Given the description of an element on the screen output the (x, y) to click on. 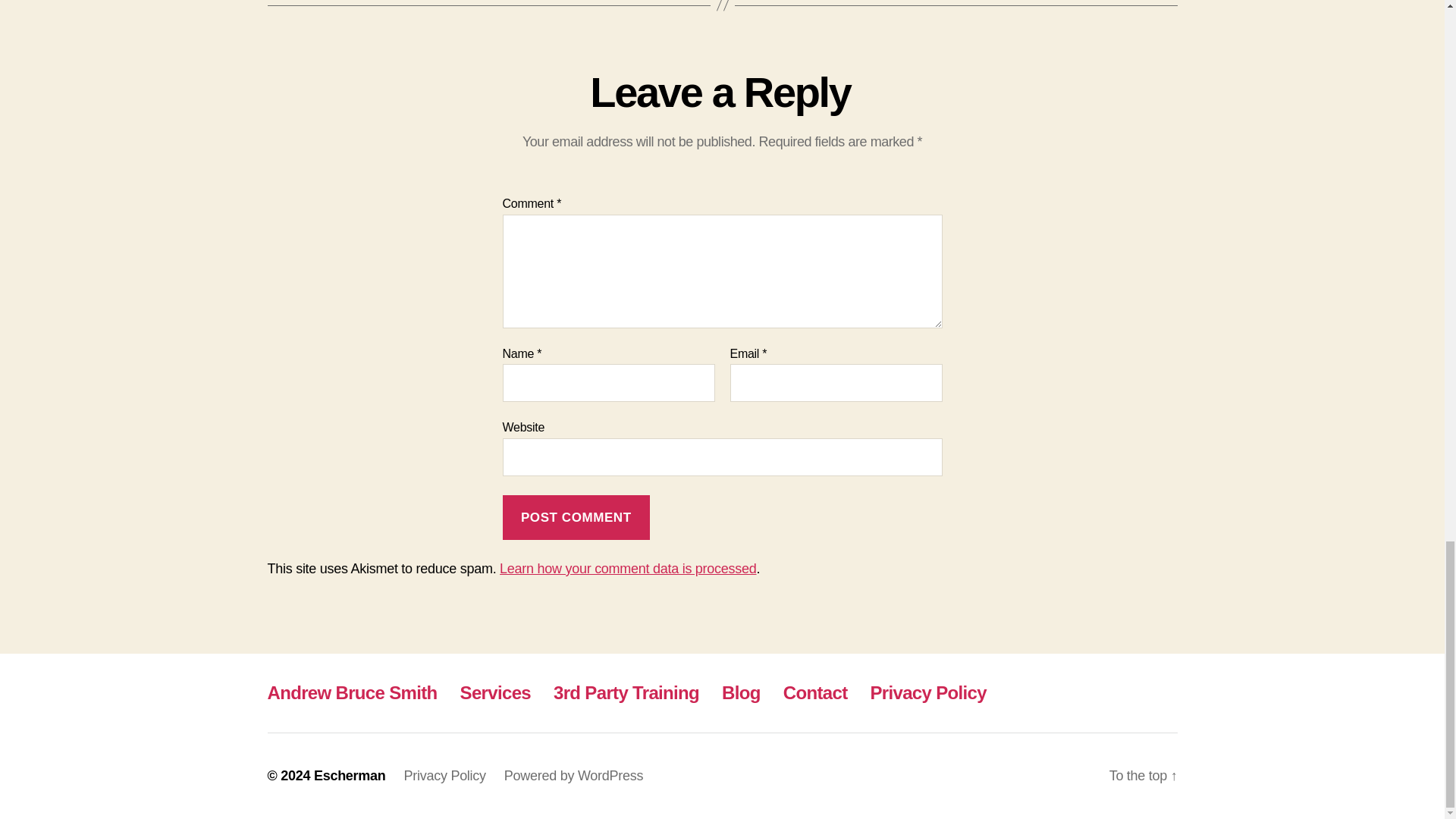
Post Comment (575, 517)
